Given the description of an element on the screen output the (x, y) to click on. 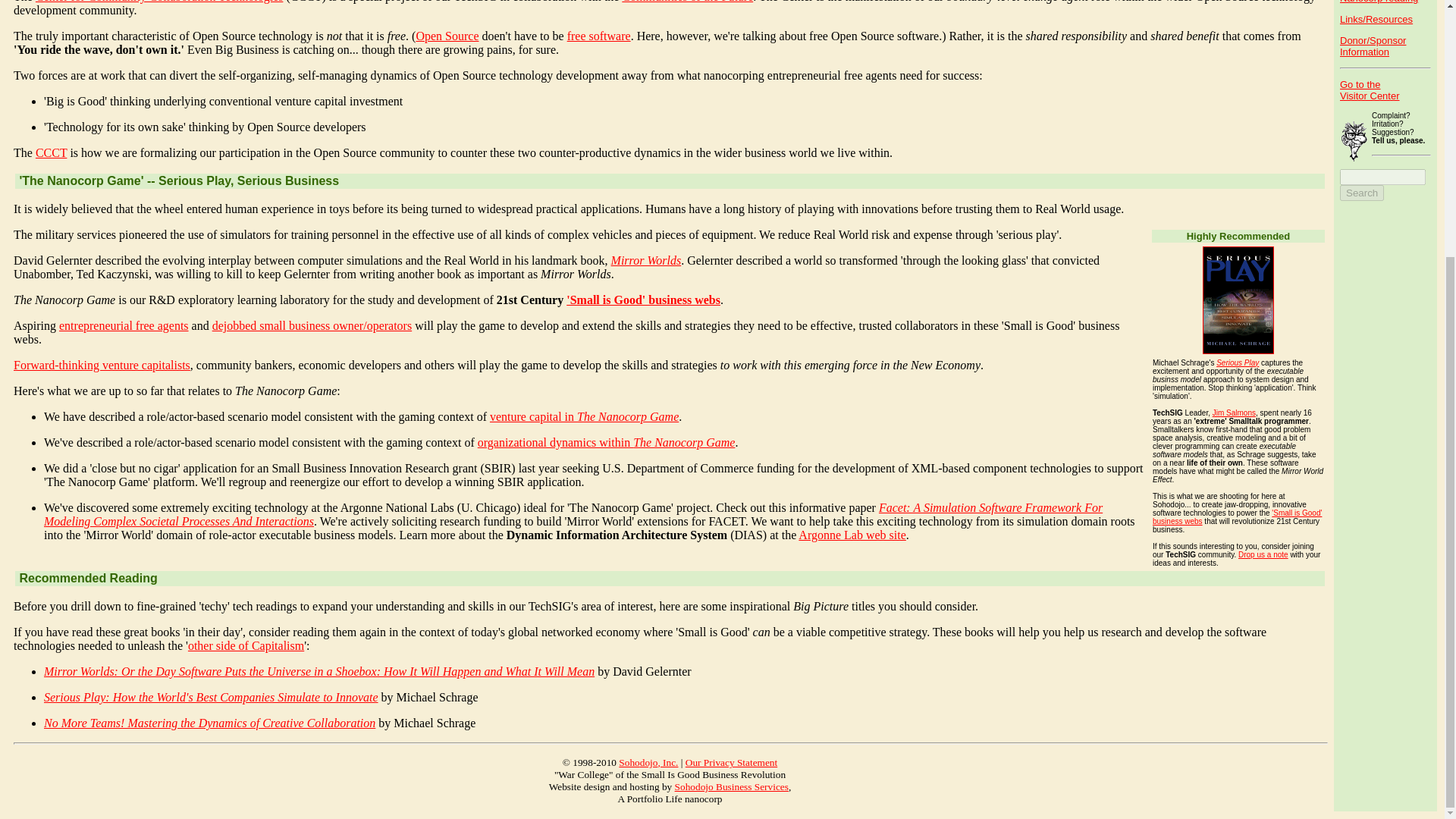
Jim Salmons (1233, 412)
'Small is Good' business webs (643, 299)
Our Privacy Statement (731, 762)
Mirror Worlds (646, 259)
entrepreneurial free agents (124, 325)
Your Support is Needed Now to create our Shared Future... (1372, 46)
Argonne Lab web site (851, 534)
Drop us a note (1263, 554)
free software (598, 35)
Serious Play (1237, 362)
Sohodojo, Inc. (648, 762)
organizational dynamics within The Nanocorp Game (606, 441)
CCCT (50, 152)
